Given the description of an element on the screen output the (x, y) to click on. 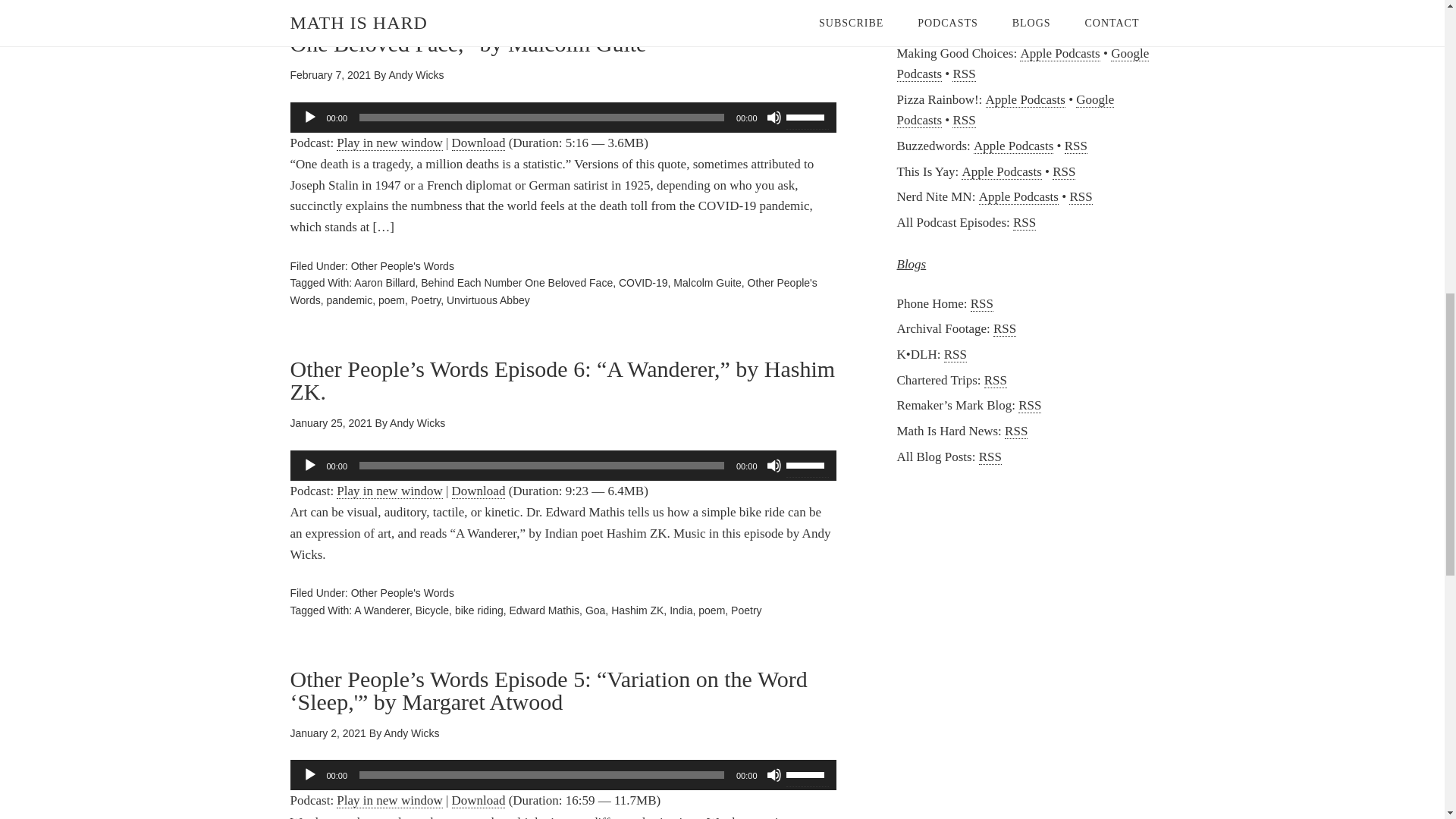
Download (478, 142)
Mute (772, 774)
Play in new window (389, 142)
Download (478, 491)
Mute (772, 116)
Play (309, 116)
Play (309, 774)
Play in new window (389, 491)
Mute (772, 465)
Play (309, 465)
